Given the description of an element on the screen output the (x, y) to click on. 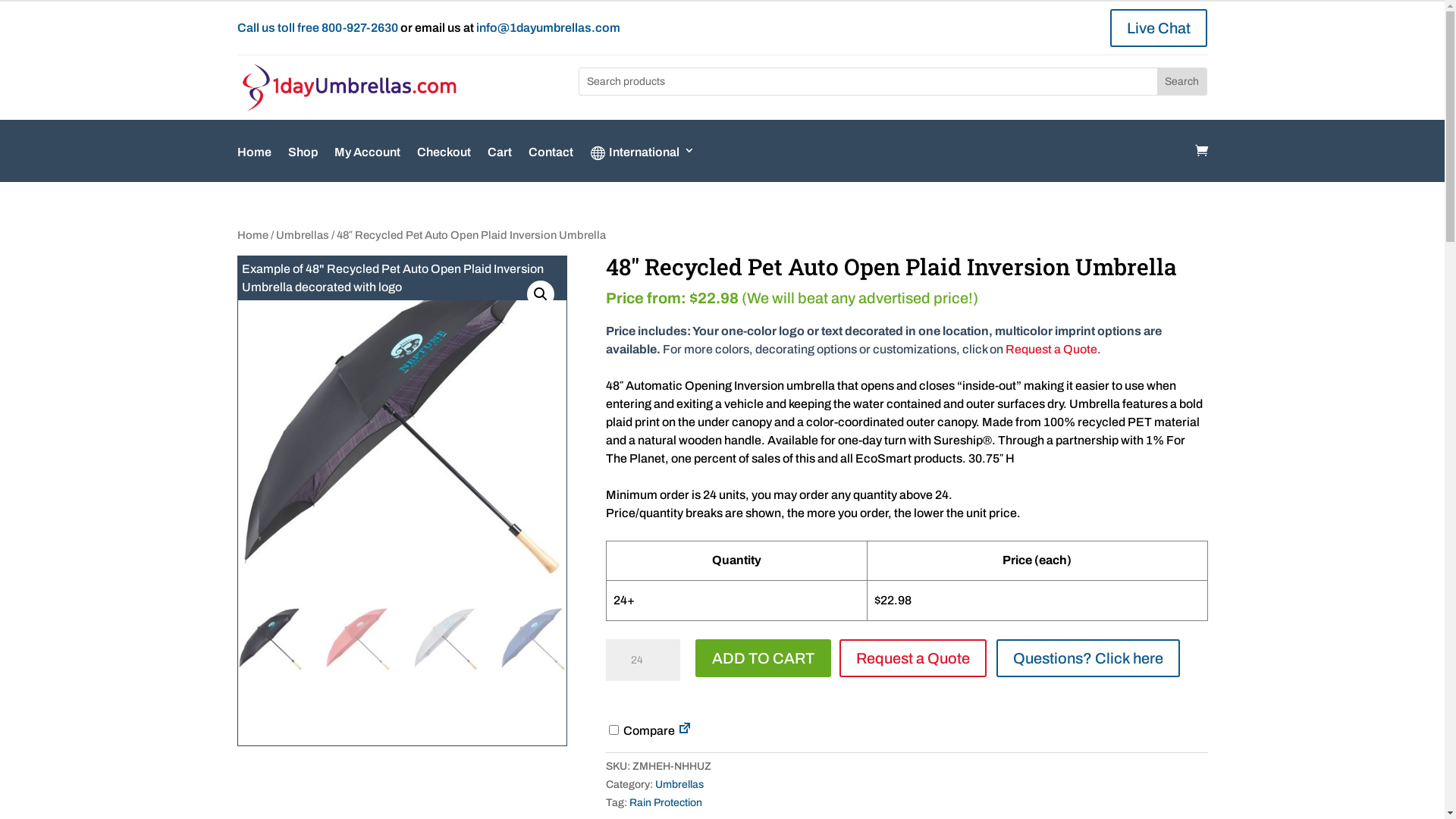
Live Chat Element type: text (1158, 28)
Umbrellas Element type: text (679, 784)
My Account Element type: text (366, 163)
Checkout Element type: text (443, 163)
Contact Element type: text (549, 163)
48-Recycled-PET-Auto-Open-Plaid-Inversion-Umbrella-2051-06 Element type: hover (402, 420)
Rain Protection Element type: text (665, 802)
Search Element type: text (1181, 81)
ADD TO CART Element type: text (763, 658)
Request a Quote Element type: text (912, 658)
info@1dayumbrellas.com Element type: text (548, 27)
Shop Element type: text (302, 163)
Home Element type: text (253, 163)
Umbrellas Element type: text (302, 235)
Home Element type: text (251, 235)
Questions? Click here Element type: text (1087, 658)
Cart Element type: text (498, 163)
1day-umbrellas Element type: hover (348, 87)
Compare Page Element type: hover (684, 730)
Request a Quote Element type: text (1051, 348)
Call us toll free 800-927-2630 Element type: text (316, 27)
